Given the description of an element on the screen output the (x, y) to click on. 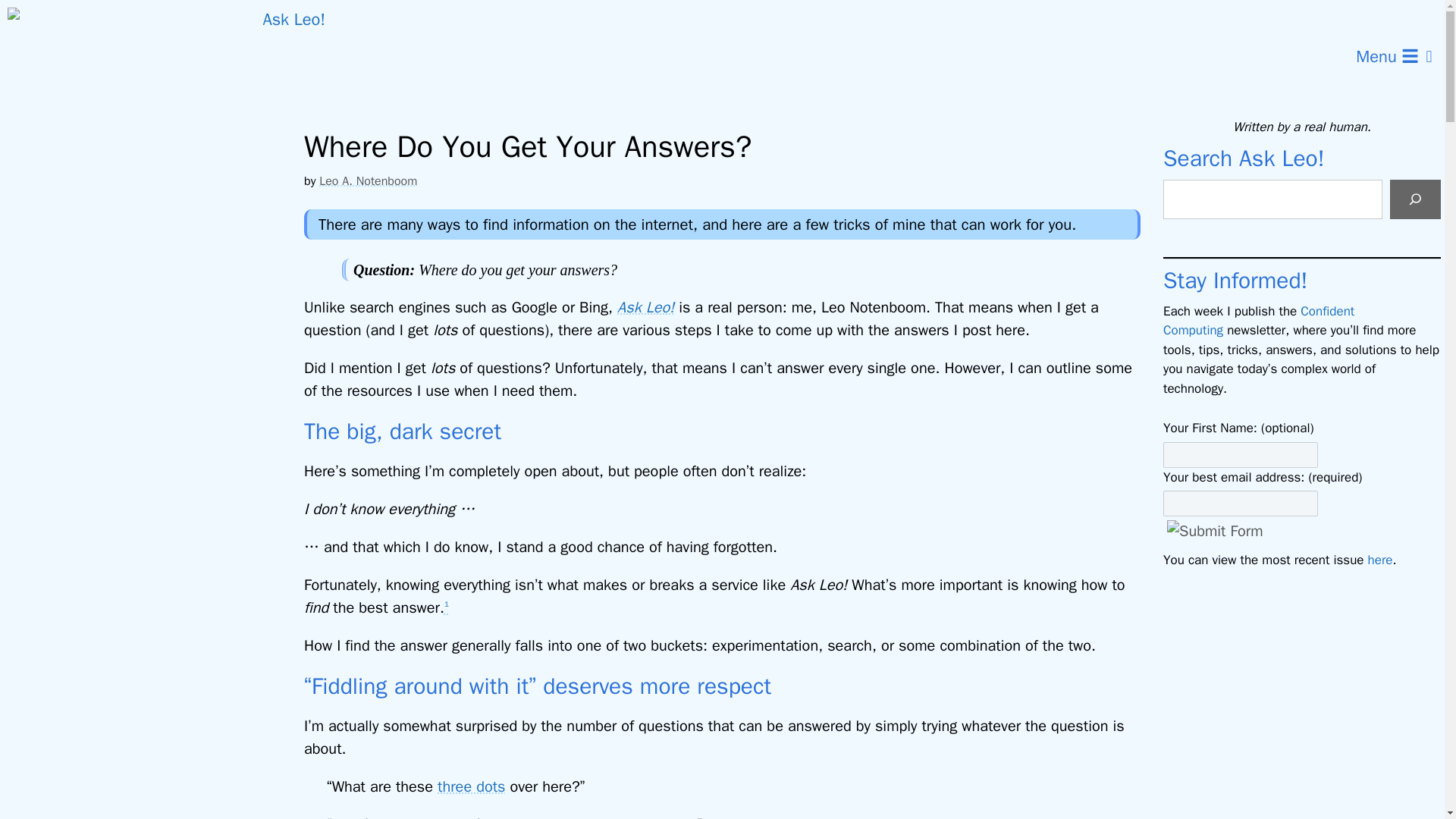
three dots (471, 786)
Ask Leo! (645, 307)
Ask Leo! (170, 56)
Leo A. Notenboom (367, 180)
1 (446, 607)
Ask Leo! (165, 56)
